Given the description of an element on the screen output the (x, y) to click on. 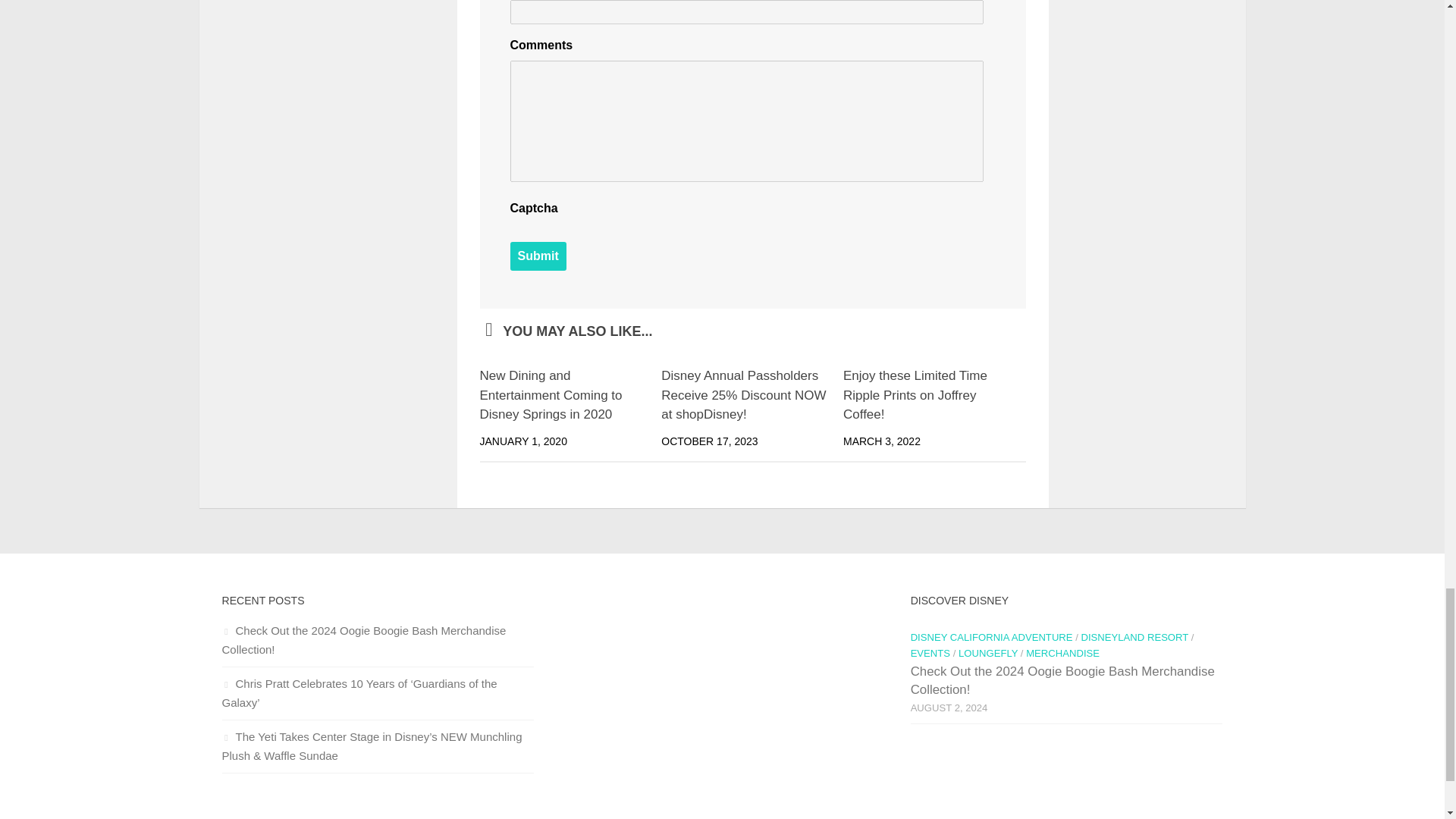
Submit (537, 256)
